Given the description of an element on the screen output the (x, y) to click on. 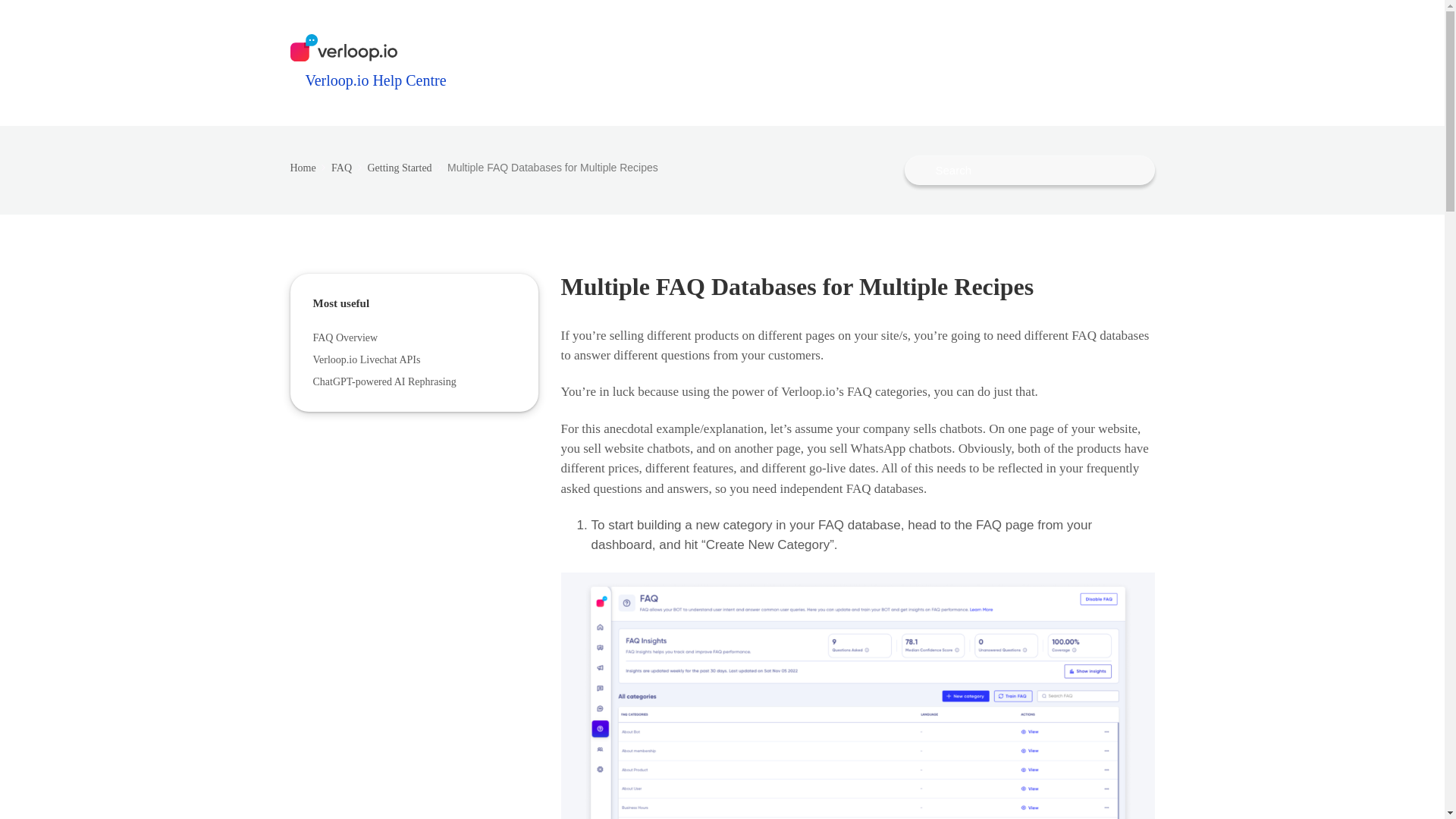
Getting Started (405, 167)
Home (309, 167)
Verloop.io Help Centre (367, 61)
ChatGPT-powered AI Rephrasing (393, 381)
FAQ (347, 167)
Verloop.io Livechat APIs (376, 359)
FAQ Overview (354, 337)
